Given the description of an element on the screen output the (x, y) to click on. 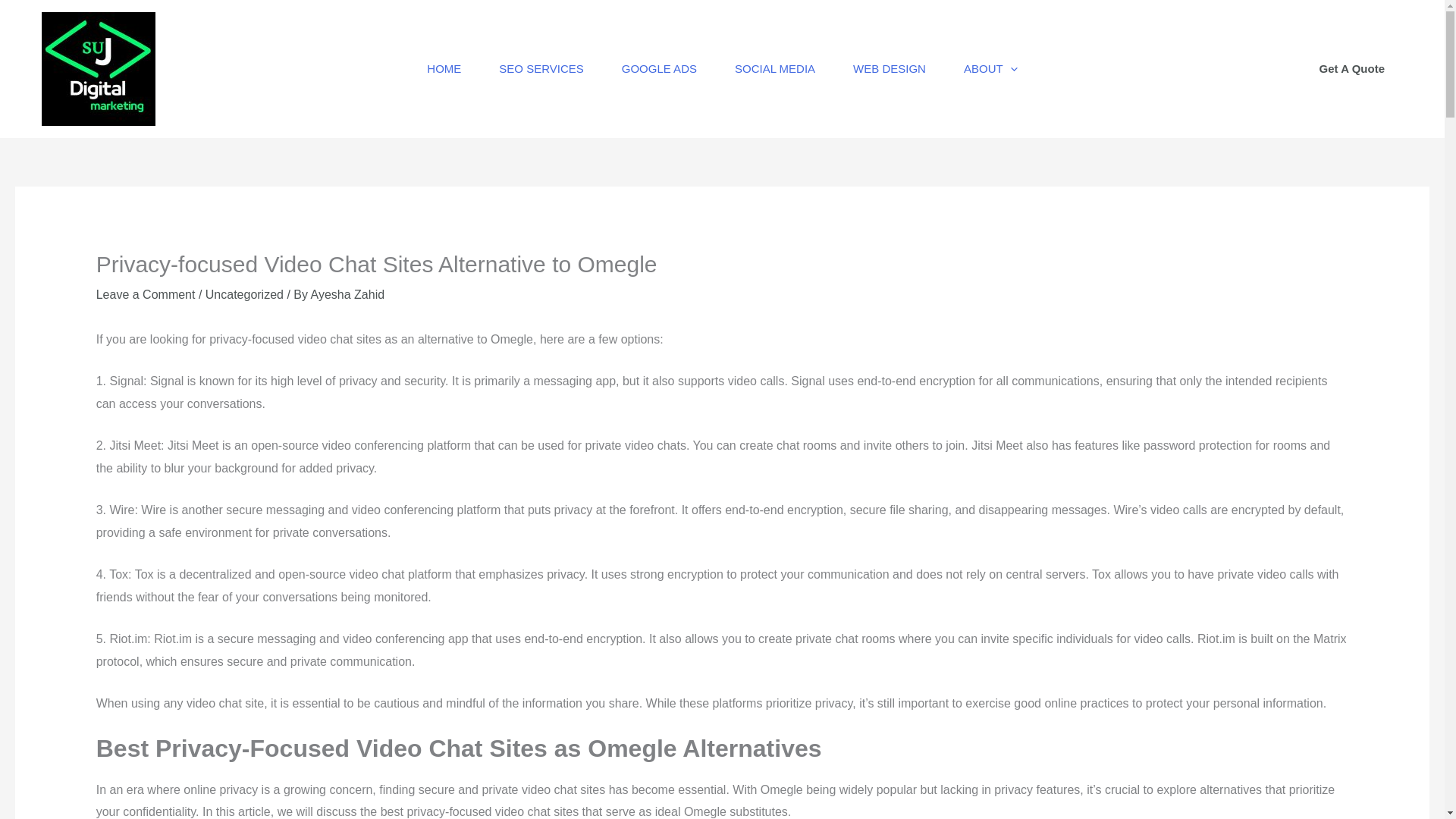
WEB DESIGN (889, 68)
Leave a Comment (145, 294)
ABOUT (990, 68)
Get A Quote (1352, 68)
View all posts by Ayesha Zahid (348, 294)
HOME (443, 68)
GOOGLE ADS (659, 68)
SOCIAL MEDIA (775, 68)
Uncategorized (244, 294)
Ayesha Zahid (348, 294)
